Given the description of an element on the screen output the (x, y) to click on. 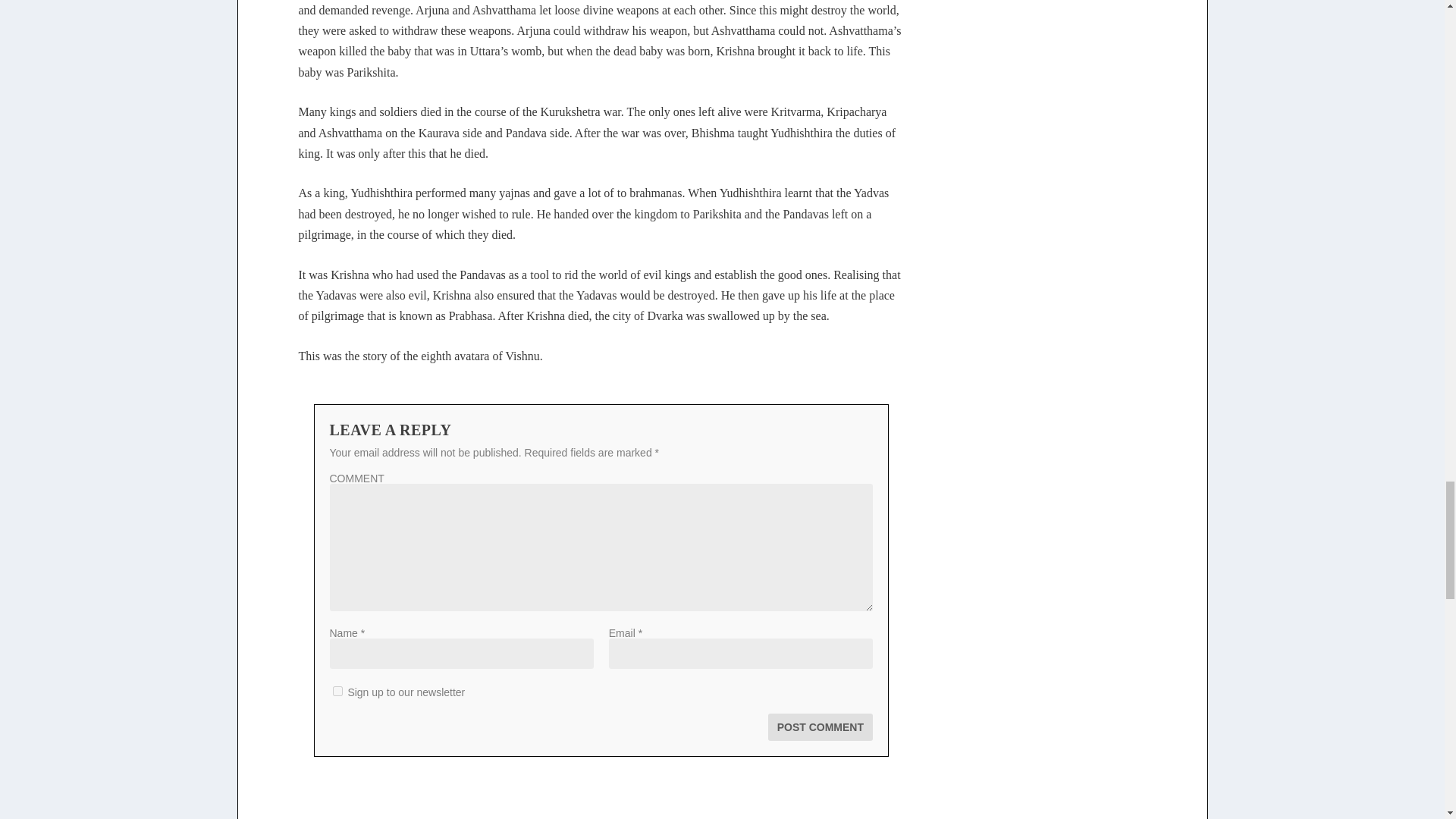
Post Comment (820, 727)
Post Comment (820, 727)
1 (336, 691)
